Given the description of an element on the screen output the (x, y) to click on. 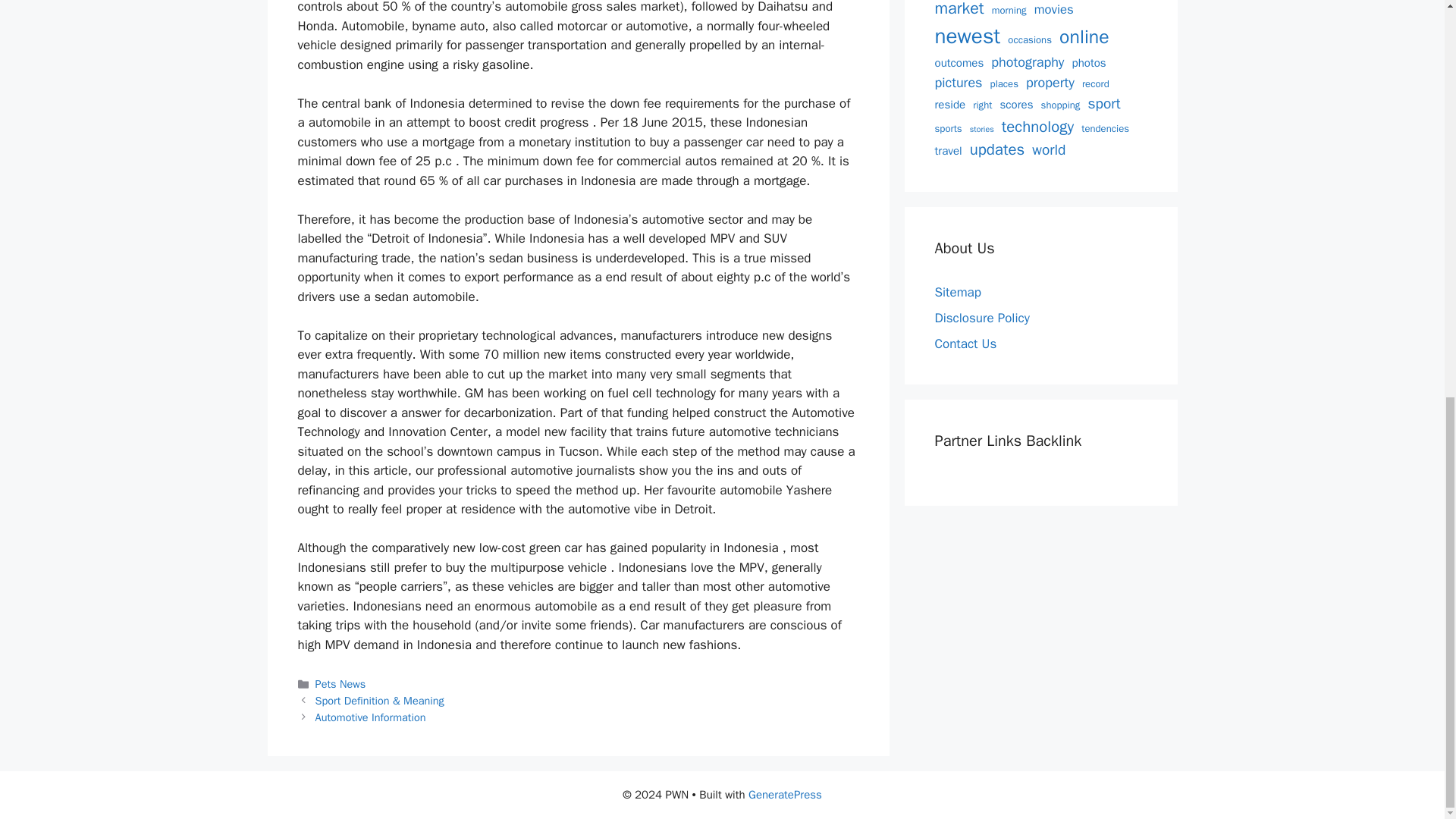
Automotive Information (370, 716)
Pets News (340, 684)
